Given the description of an element on the screen output the (x, y) to click on. 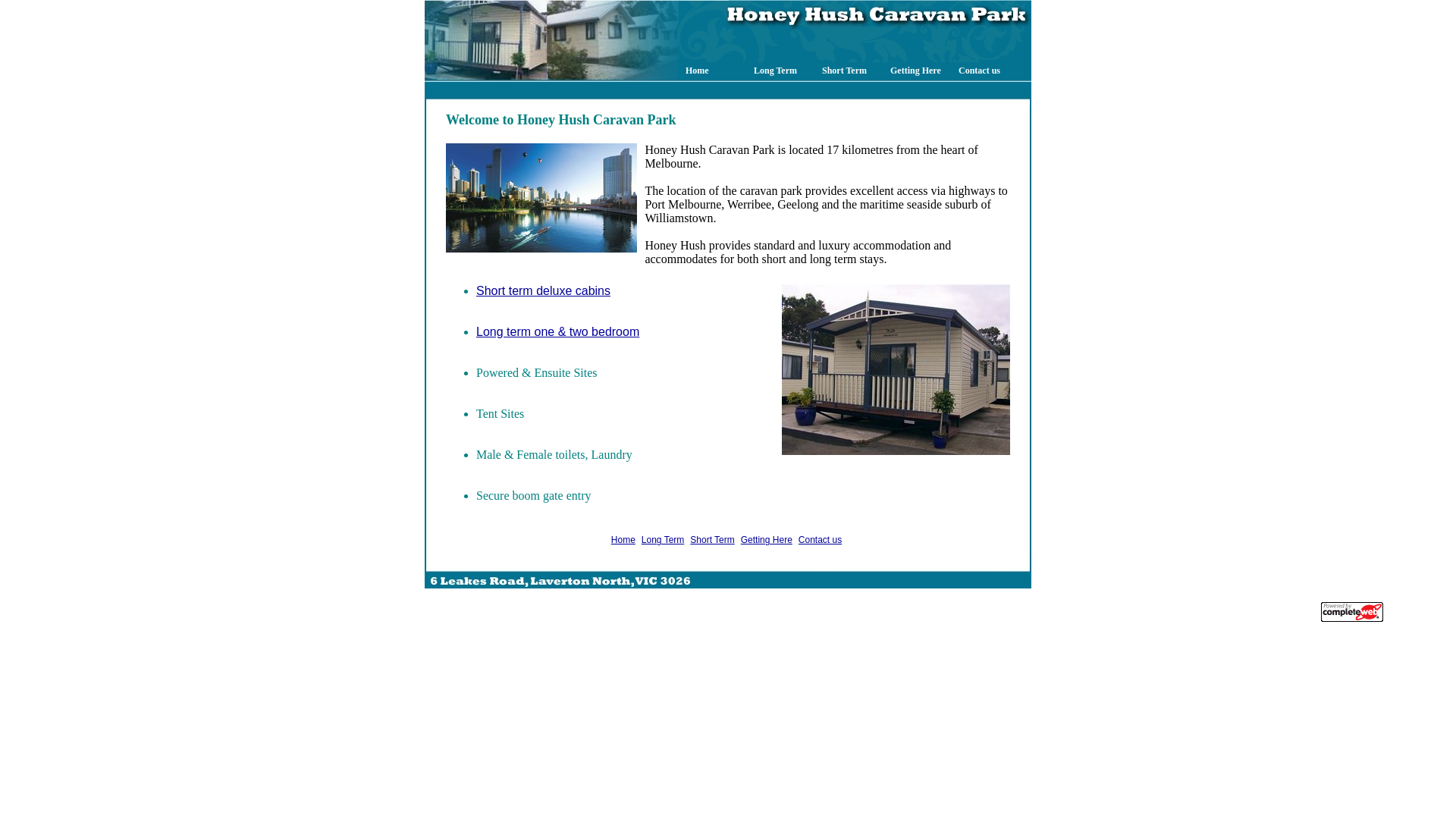
Home Element type: text (623, 539)
Contact us Element type: text (819, 539)
Long Term Element type: text (662, 539)
Short Term Element type: text (712, 539)
Getting Here Element type: text (766, 539)
Honey Hush Caravan Park, Accommodation Melbourne Element type: hover (541, 197)
Long term one & two bedroom Element type: text (557, 331)
Short term deluxe cabins Element type: text (543, 290)
